Given the description of an element on the screen output the (x, y) to click on. 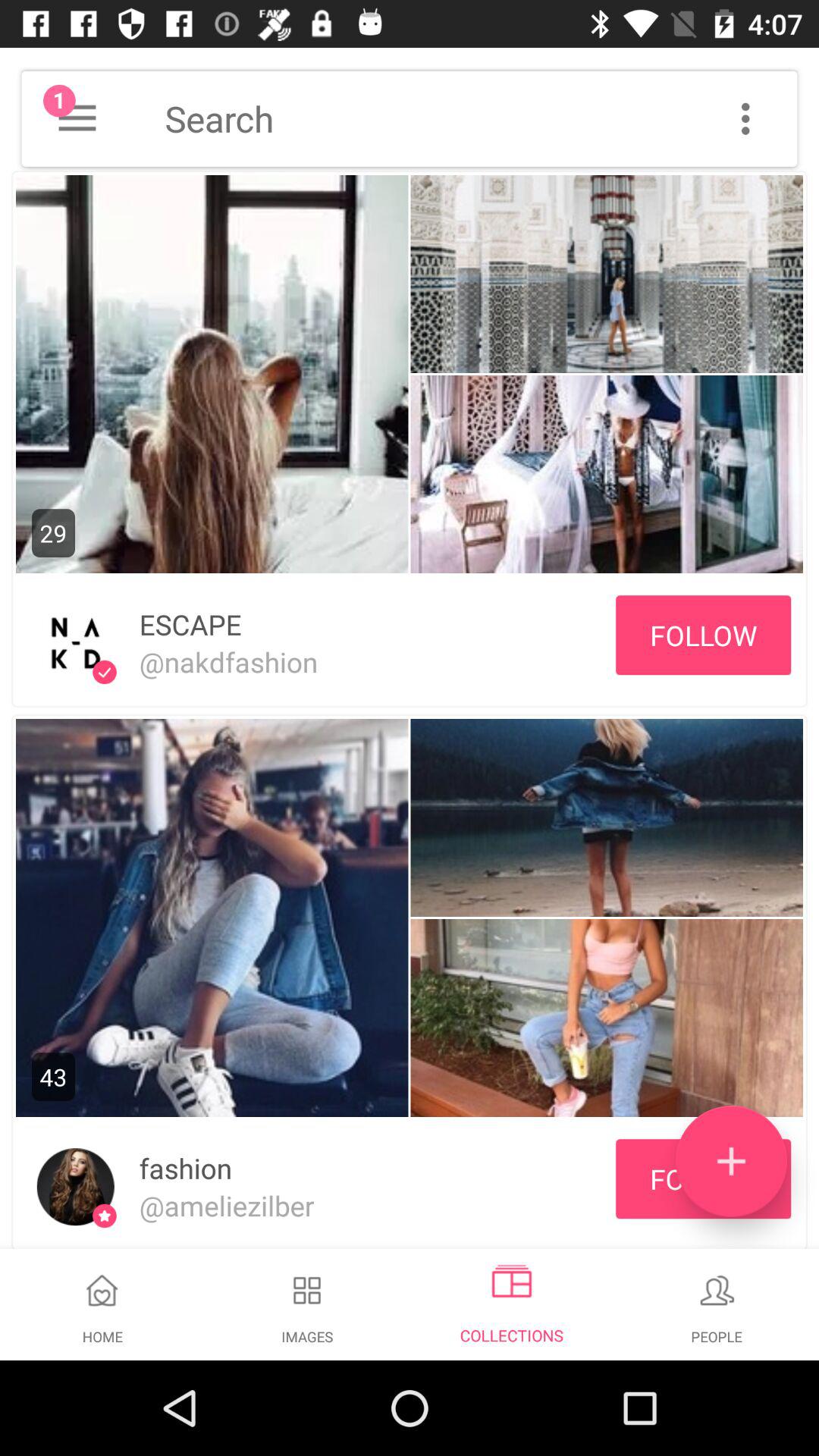
enter search query (480, 118)
